Given the description of an element on the screen output the (x, y) to click on. 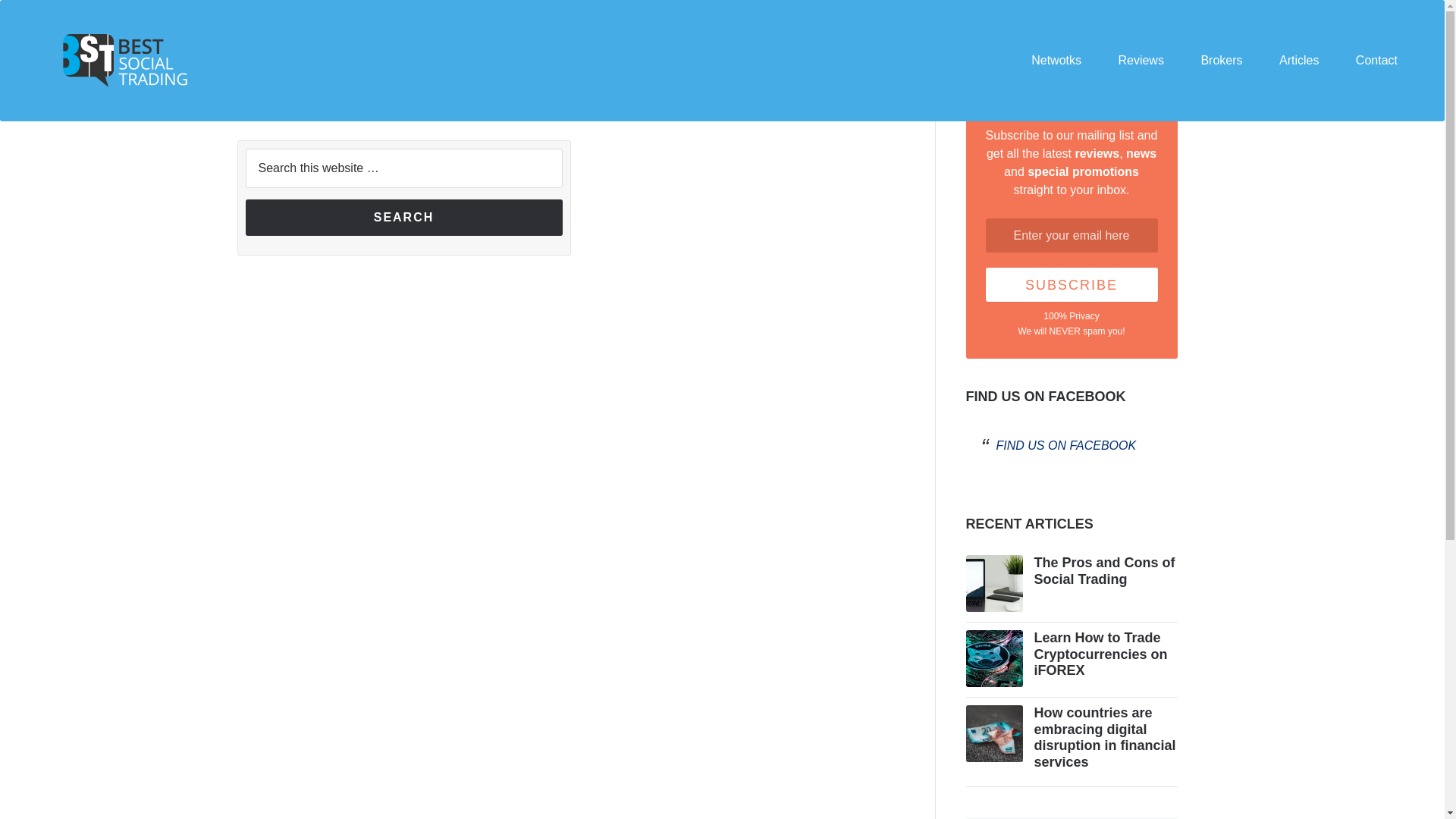
Reviews (1139, 60)
Subscribe (1071, 284)
BESTSOCIALTRADING.COM (131, 60)
FIND US ON FACEBOOK (1045, 396)
Contact (1376, 60)
FIND US ON FACEBOOK (1066, 445)
Subscribe (1071, 284)
Brokers (1221, 60)
Learn How to Trade Cryptocurrencies on iFOREX (1100, 653)
